Given the description of an element on the screen output the (x, y) to click on. 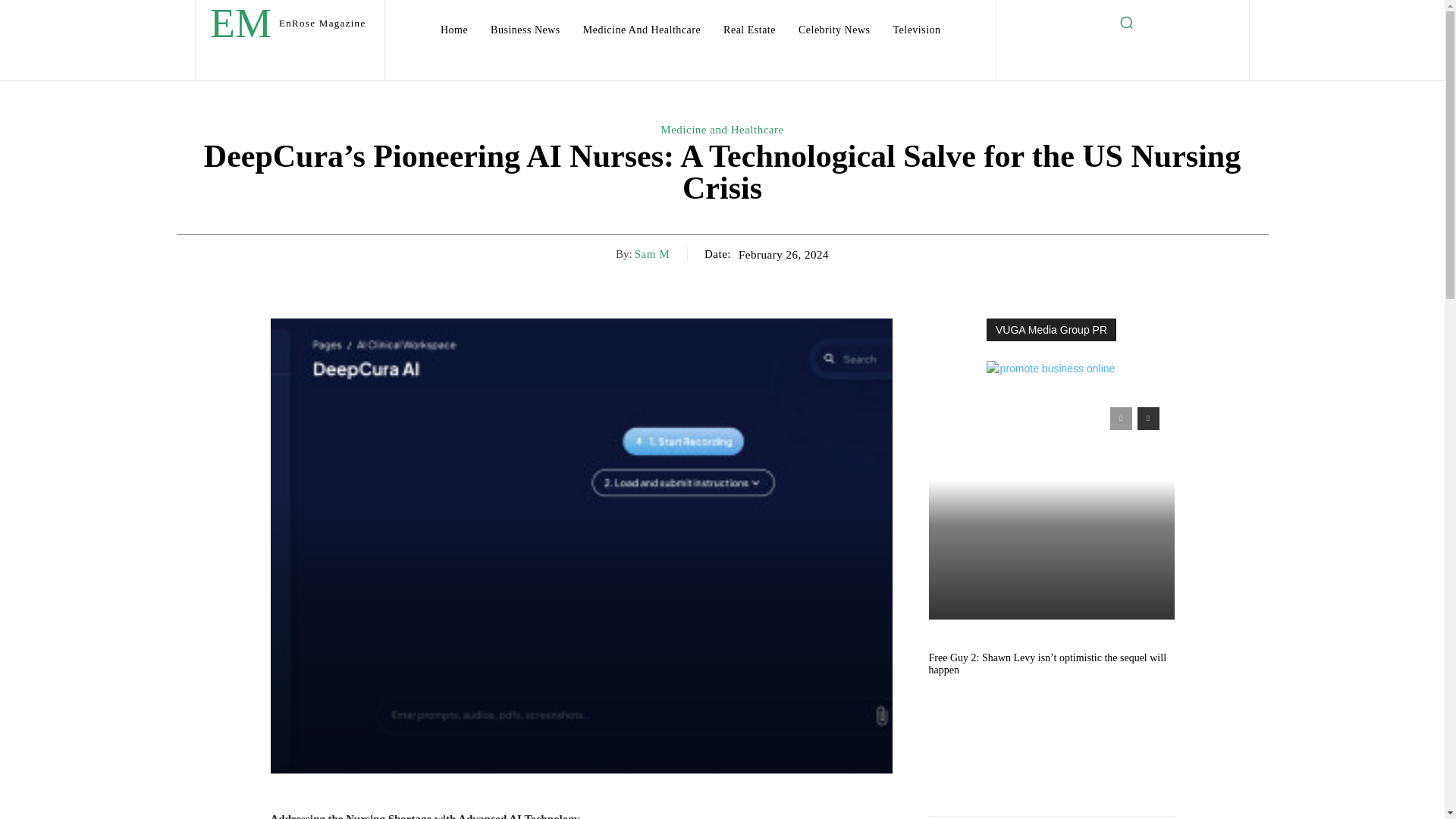
Business News (525, 30)
VUGA Media Group PR (1051, 328)
Medicine and Healthcare (722, 129)
Real Estate (749, 30)
REVOLT Unveils Sizzling Summer 2024 Podcast Lineup (1050, 505)
Sam M (651, 254)
Celebrity News (833, 30)
Medicine And Healthcare (641, 30)
REVOLT Unveils Sizzling Summer 2024 Podcast Lineup (1038, 410)
